Given the description of an element on the screen output the (x, y) to click on. 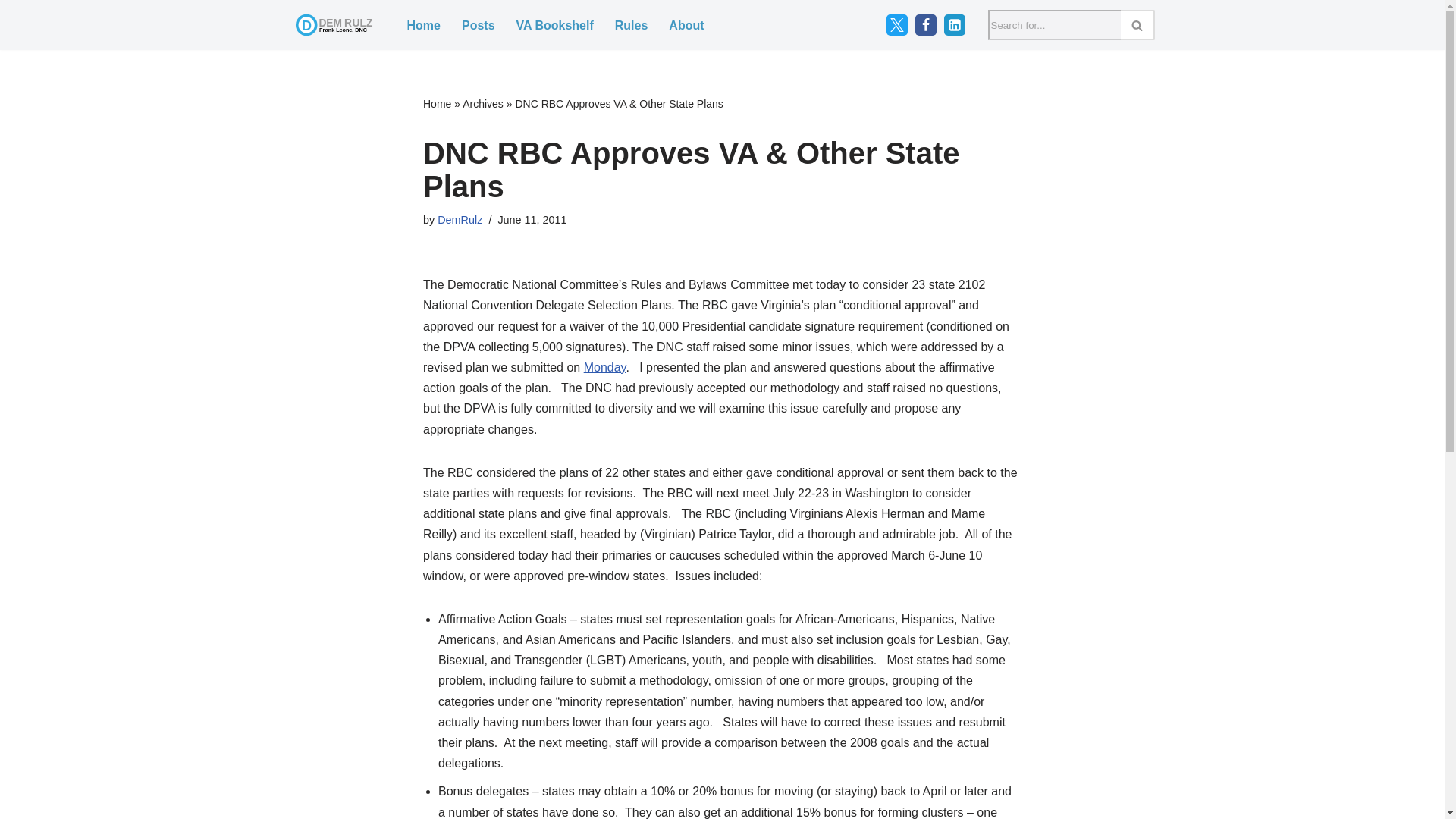
Skip to content (11, 31)
About (685, 25)
VA Bookshelf (555, 25)
Twitter (896, 25)
Home (437, 103)
Monday (604, 367)
Archives (483, 103)
Posts by DemRulz (459, 219)
Facebook (925, 25)
Home (422, 25)
